Given the description of an element on the screen output the (x, y) to click on. 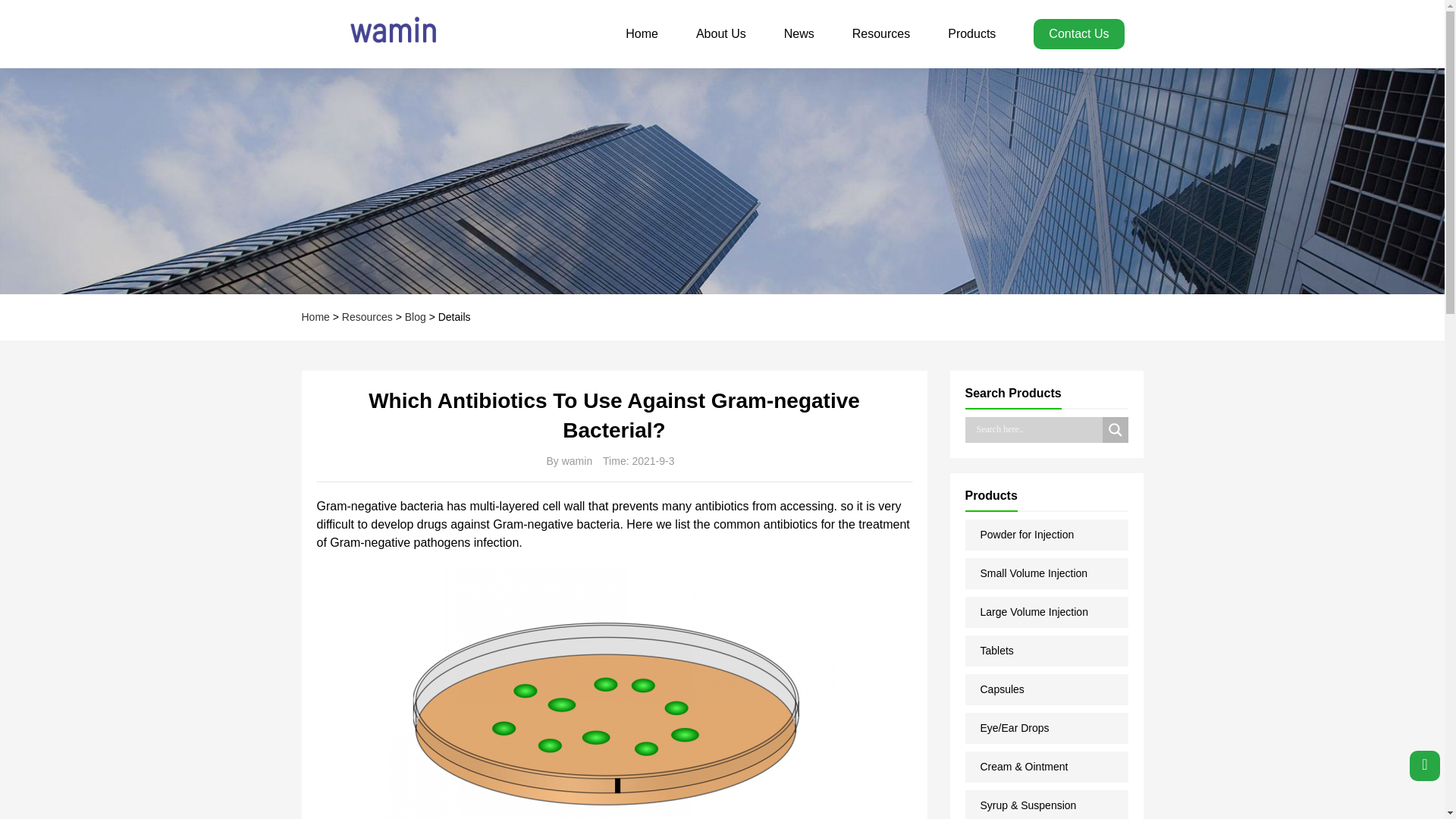
Home (642, 33)
Which Antibiotics To Use Against Gram-negative Bacterial? (610, 693)
Suppliers, Exporters, and Manufacturers China Medicine (376, 33)
Products (971, 33)
go top (1424, 766)
Resources (880, 33)
About Us (720, 33)
News (798, 33)
Contact Us (1078, 33)
